Given the description of an element on the screen output the (x, y) to click on. 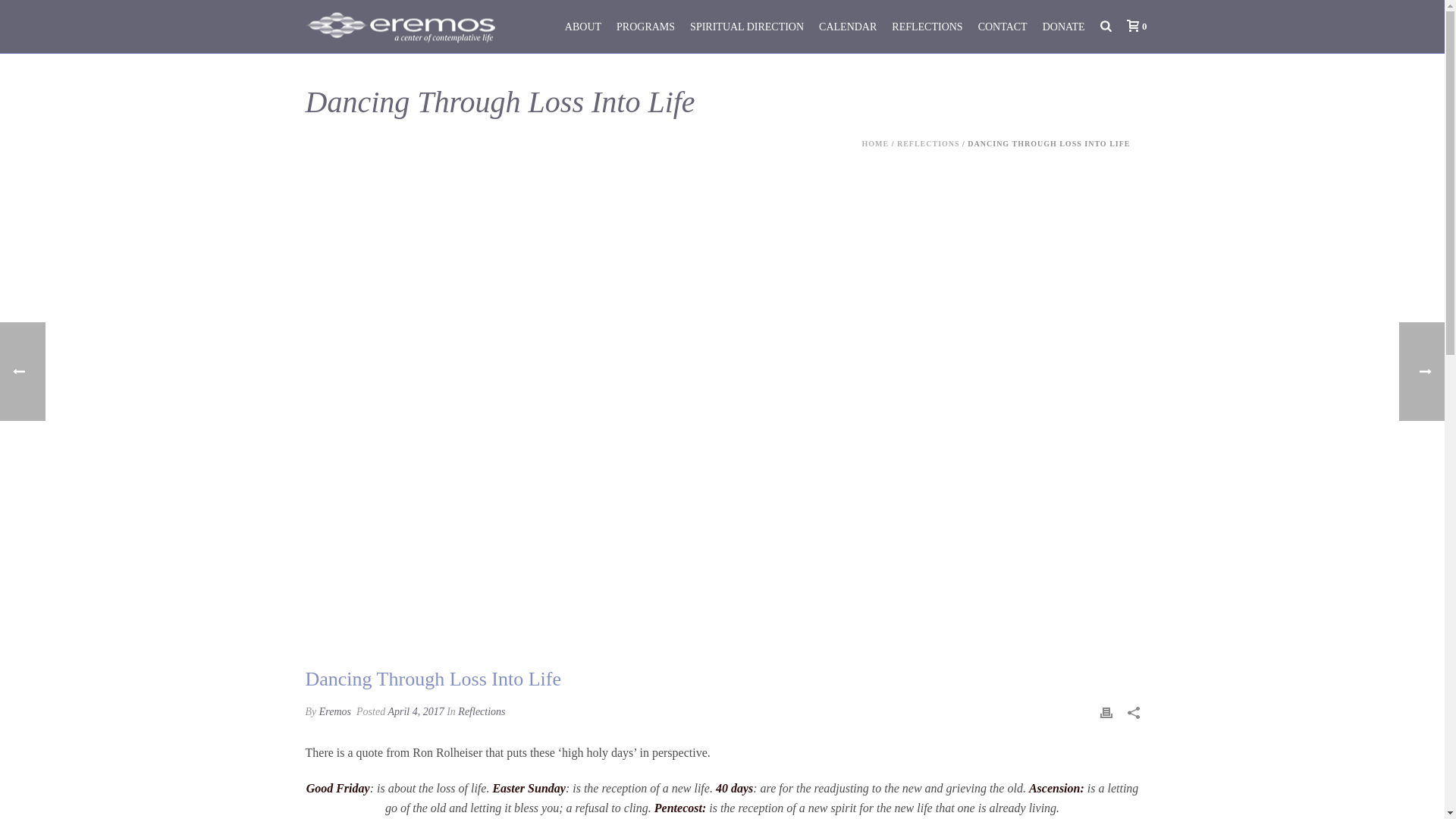
DONATE (1064, 27)
CONTACT (1003, 27)
0 (1133, 25)
ABOUT (582, 27)
CALENDAR (846, 27)
DONATE (1064, 27)
ABOUT (582, 27)
REFLECTIONS (926, 27)
